Given the description of an element on the screen output the (x, y) to click on. 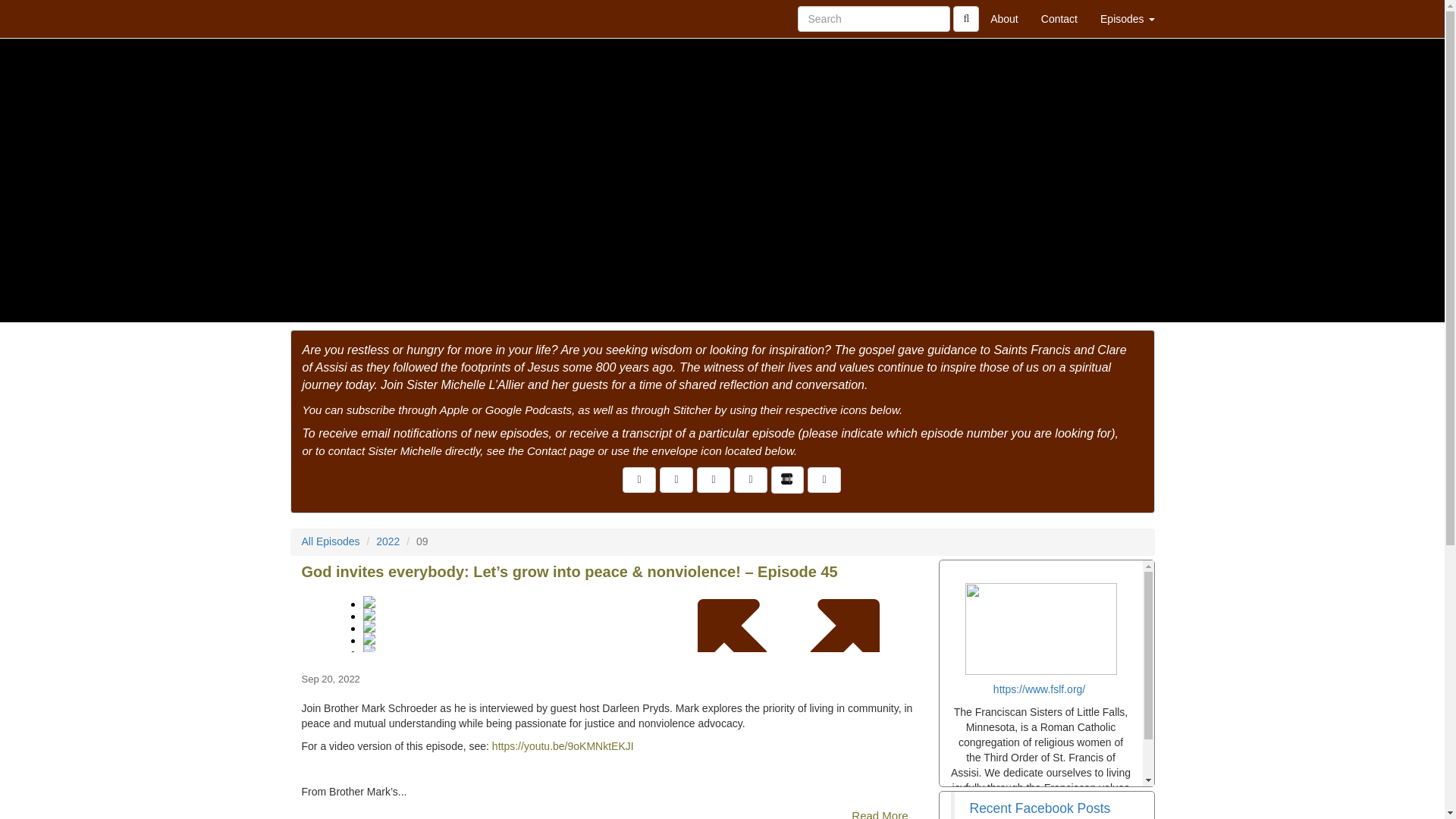
Home Page (320, 18)
Subscribe to RSS Feed (713, 479)
About (1003, 18)
Contact (1059, 18)
Visit Us on Facebook (639, 479)
Listen on Stitcher (787, 479)
Listen on Apple Podcasts (750, 479)
Email This Podcast (676, 479)
Episodes (1127, 18)
Listen on Spotify (824, 479)
